Given the description of an element on the screen output the (x, y) to click on. 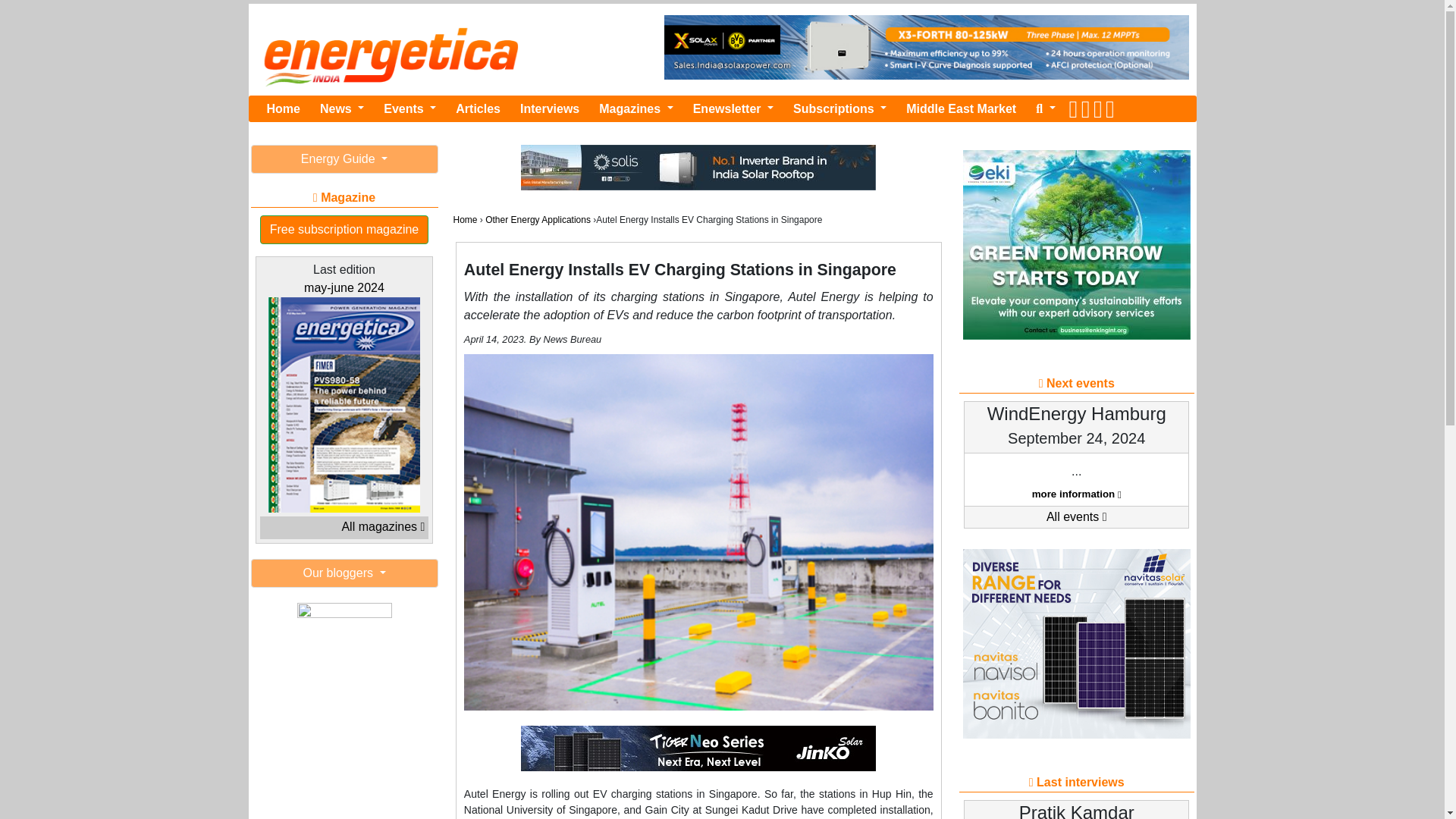
Events (409, 109)
Home Energetica India (282, 109)
News (341, 109)
Home (282, 109)
